Given the description of an element on the screen output the (x, y) to click on. 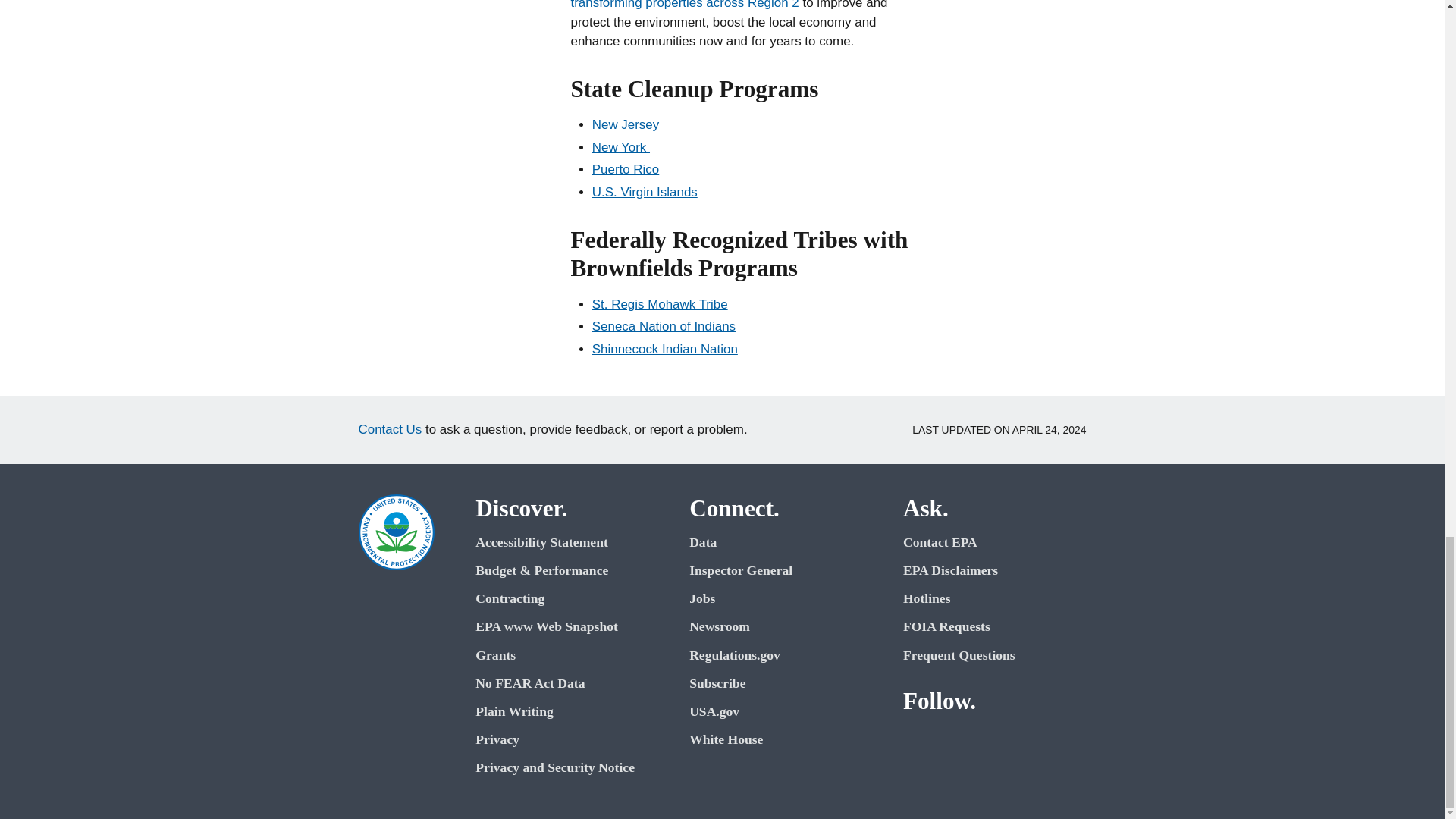
transforming properties across Region 2 (683, 4)
